Given the description of an element on the screen output the (x, y) to click on. 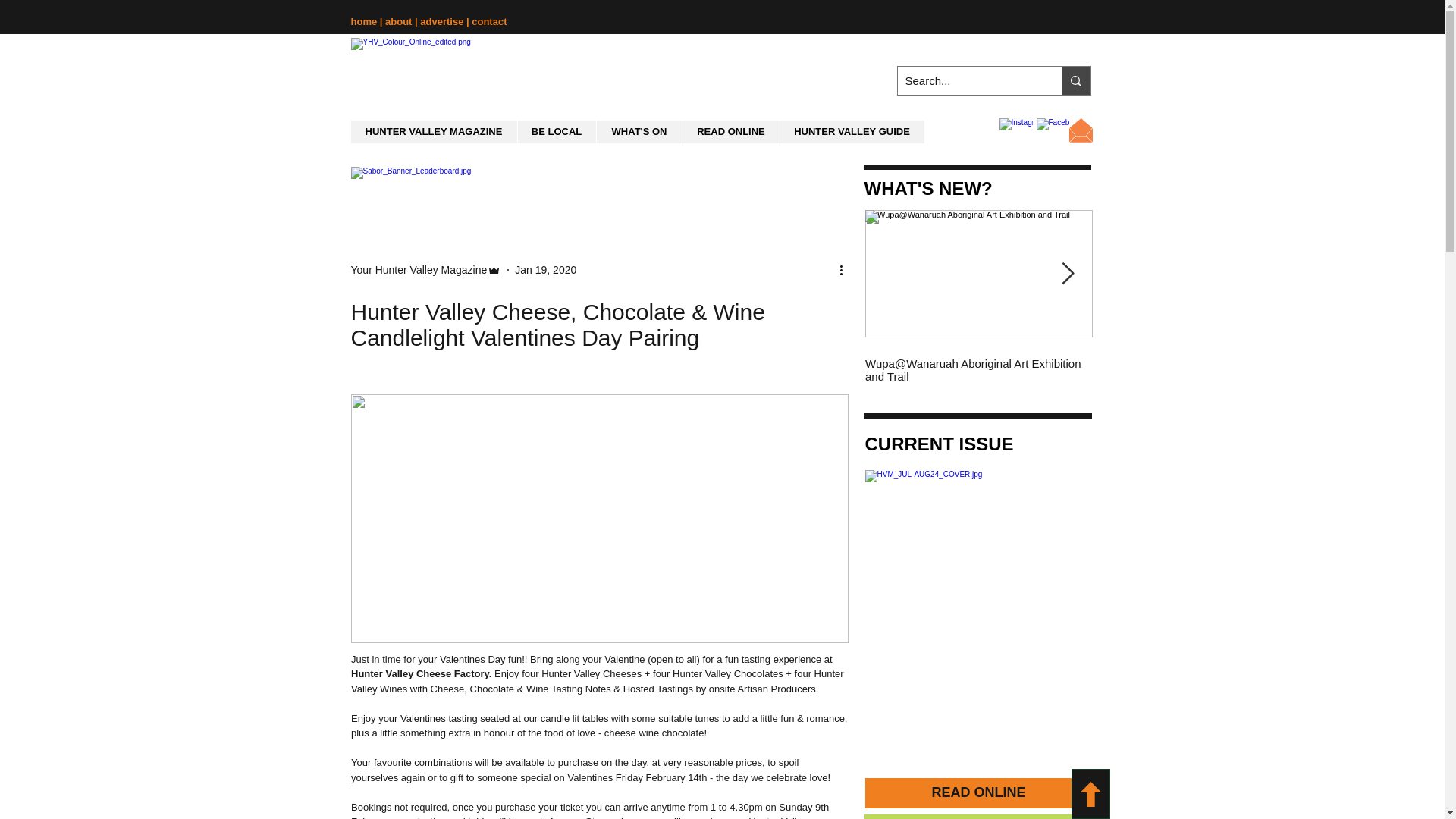
home (364, 21)
HUNTER VALLEY MAGAZINE (433, 131)
advertise (442, 21)
about (399, 21)
READ ONLINE (730, 131)
Your Hunter Valley Magazine (418, 270)
contact (488, 21)
WHAT'S ON (638, 131)
BE LOCAL (555, 131)
HUNTER VALLEY GUIDE (851, 131)
Jan 19, 2020 (545, 269)
